Given the description of an element on the screen output the (x, y) to click on. 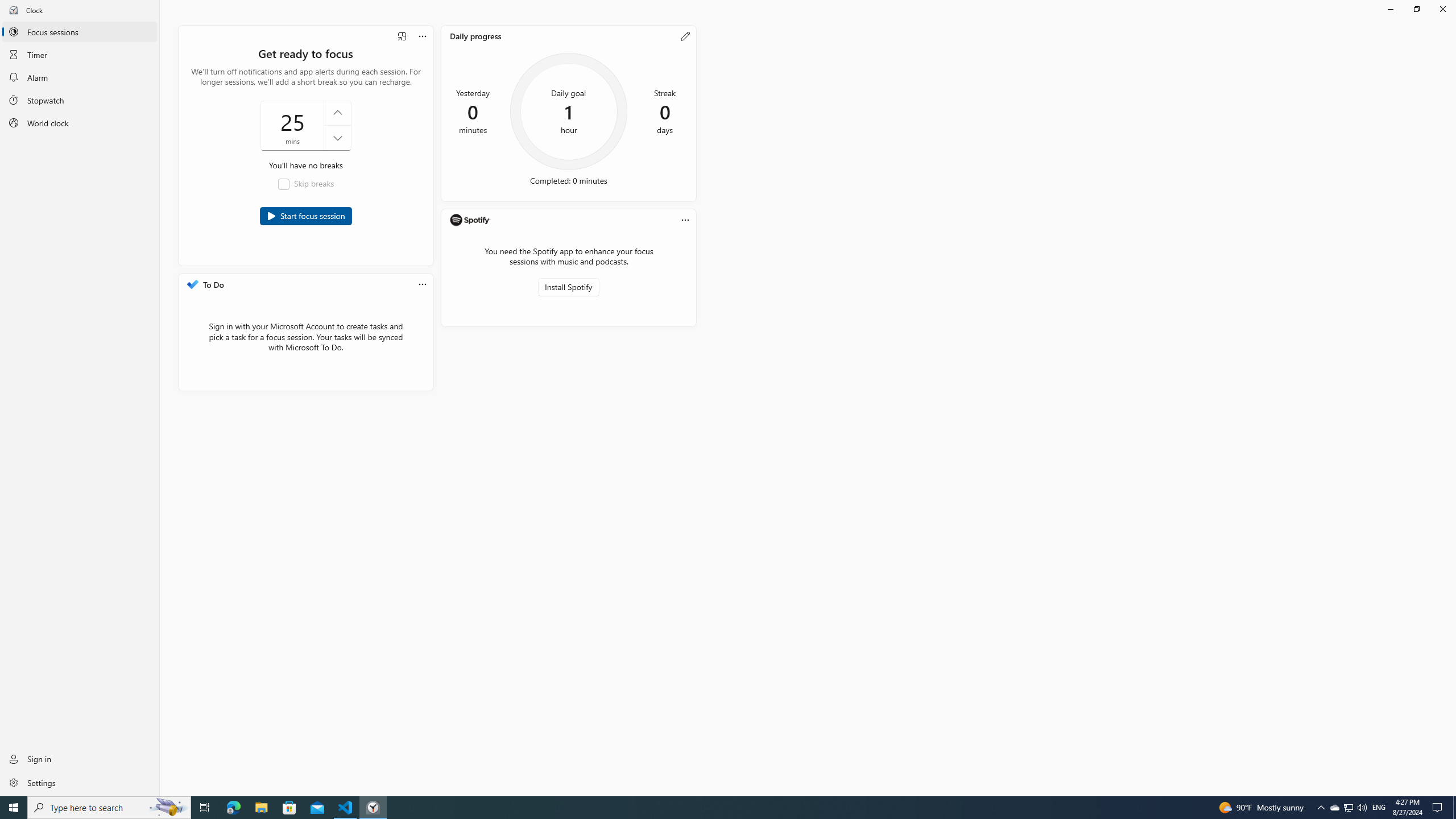
AutomationID: FullNumberBox (305, 125)
Keep on top (401, 36)
Clock - 1 running window (373, 807)
Decrease the focus session time (337, 137)
See more (684, 220)
Start focus session (306, 216)
